Given the description of an element on the screen output the (x, y) to click on. 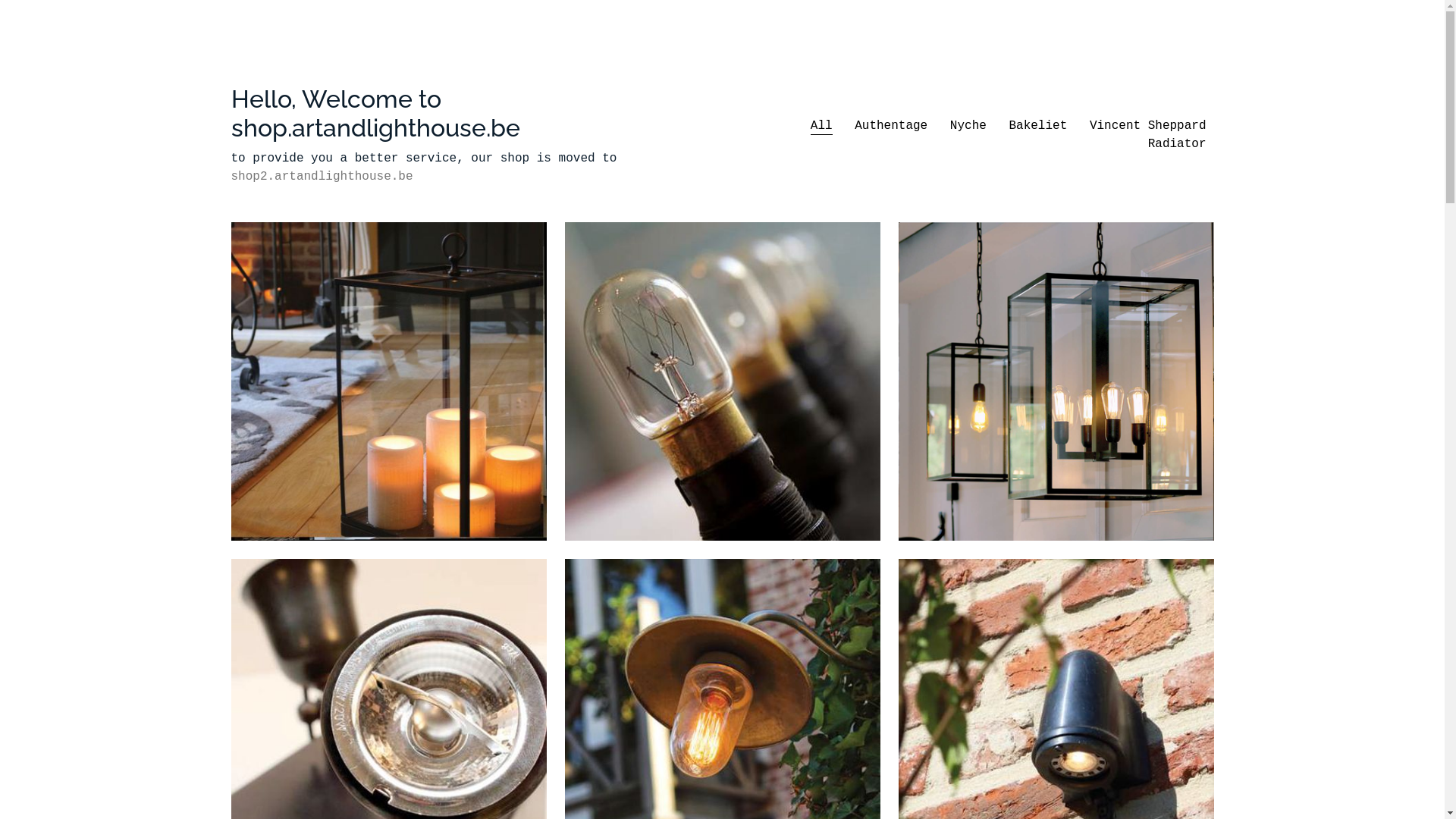
Nyche Element type: text (968, 125)
All Element type: text (821, 125)
shop2.artandlighthouse.be Element type: text (321, 176)
Vincent Sheppard Element type: text (1148, 125)
Authentage Element type: text (891, 125)
Radiator Element type: text (1177, 143)
Bakeliet Element type: text (1037, 125)
